Given the description of an element on the screen output the (x, y) to click on. 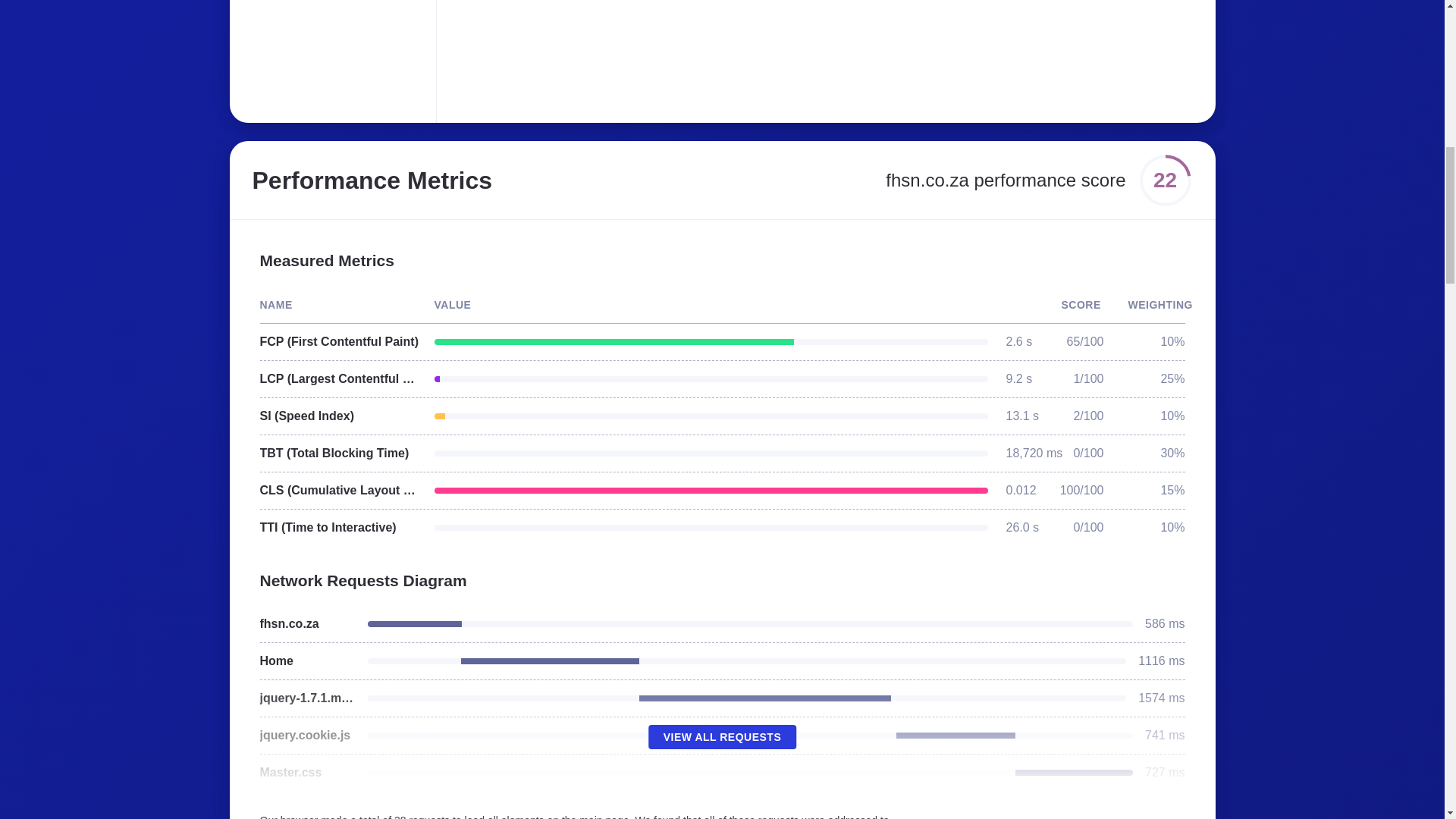
VIEW ALL REQUESTS (721, 736)
